Given the description of an element on the screen output the (x, y) to click on. 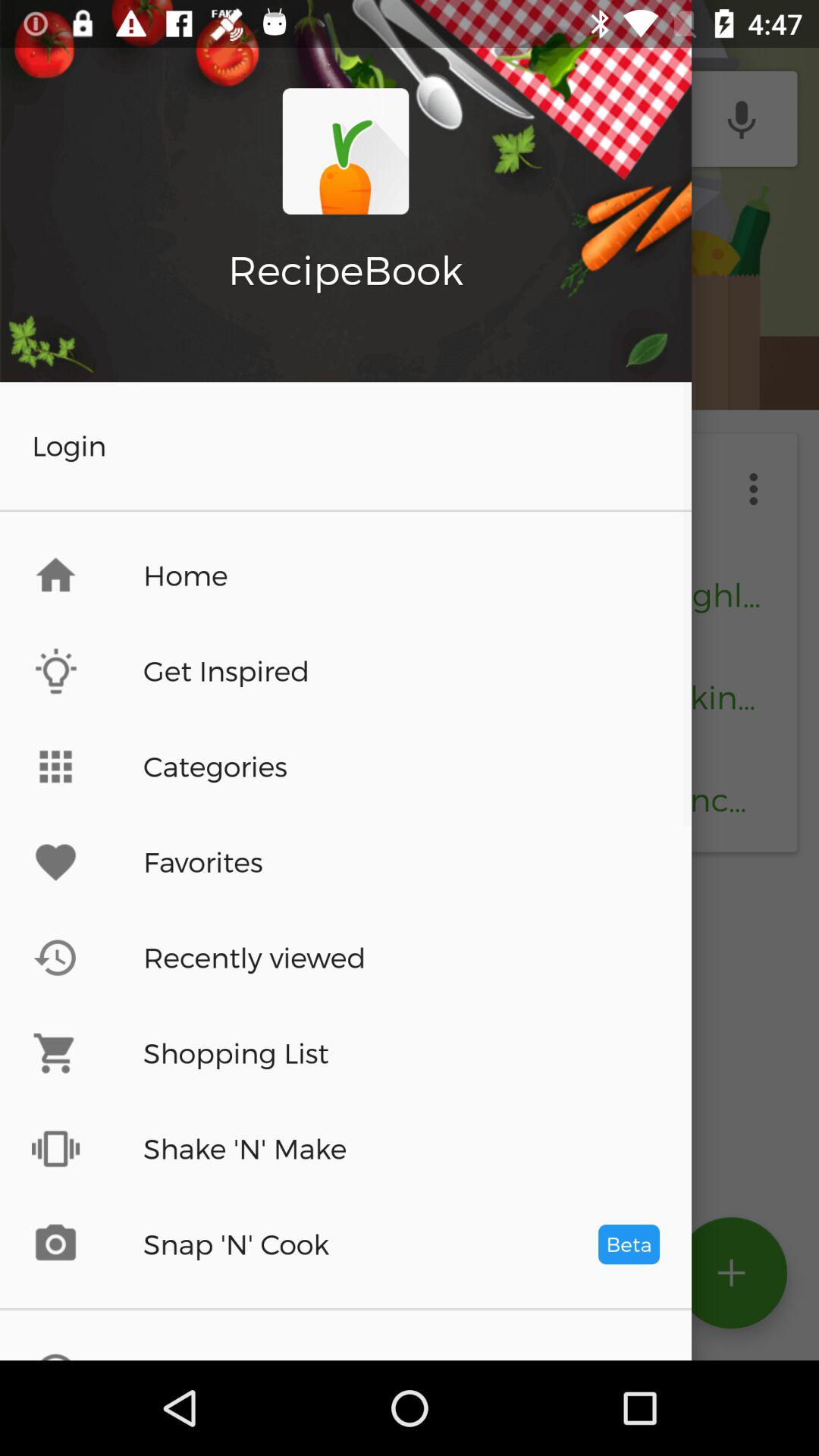
click on voice search icon (741, 119)
